Given the description of an element on the screen output the (x, y) to click on. 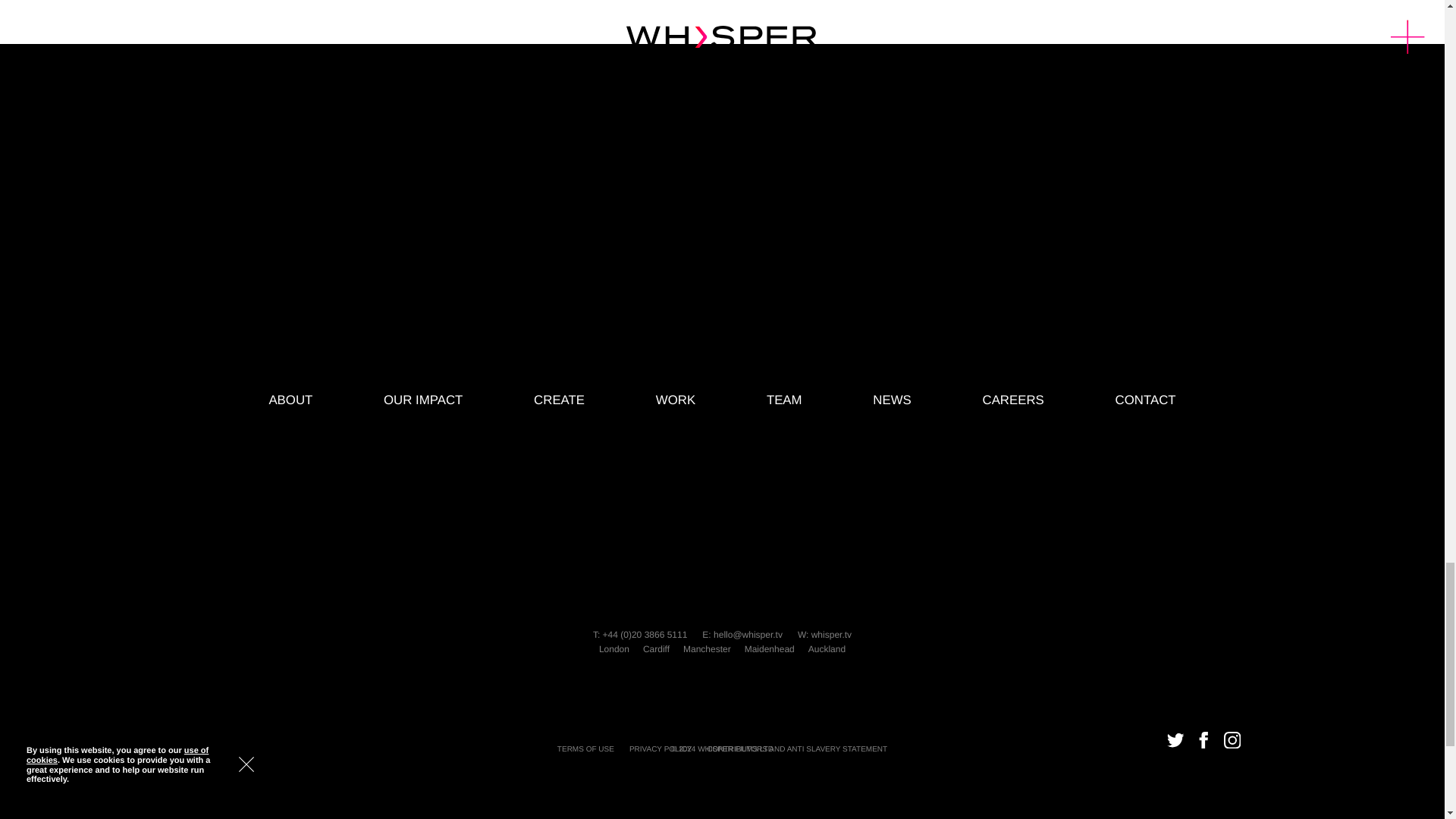
TERMS OF USE (585, 749)
PRIVACY POLICY (659, 749)
WORK (675, 400)
ABOUT (290, 400)
OUR IMPACT (423, 400)
TEAM (784, 400)
CONTACT (1145, 400)
CAREERS (1012, 400)
CREATE (559, 400)
CONTRIBUTORS AND ANTI SLAVERY STATEMENT (796, 749)
NEWS (891, 400)
